Given the description of an element on the screen output the (x, y) to click on. 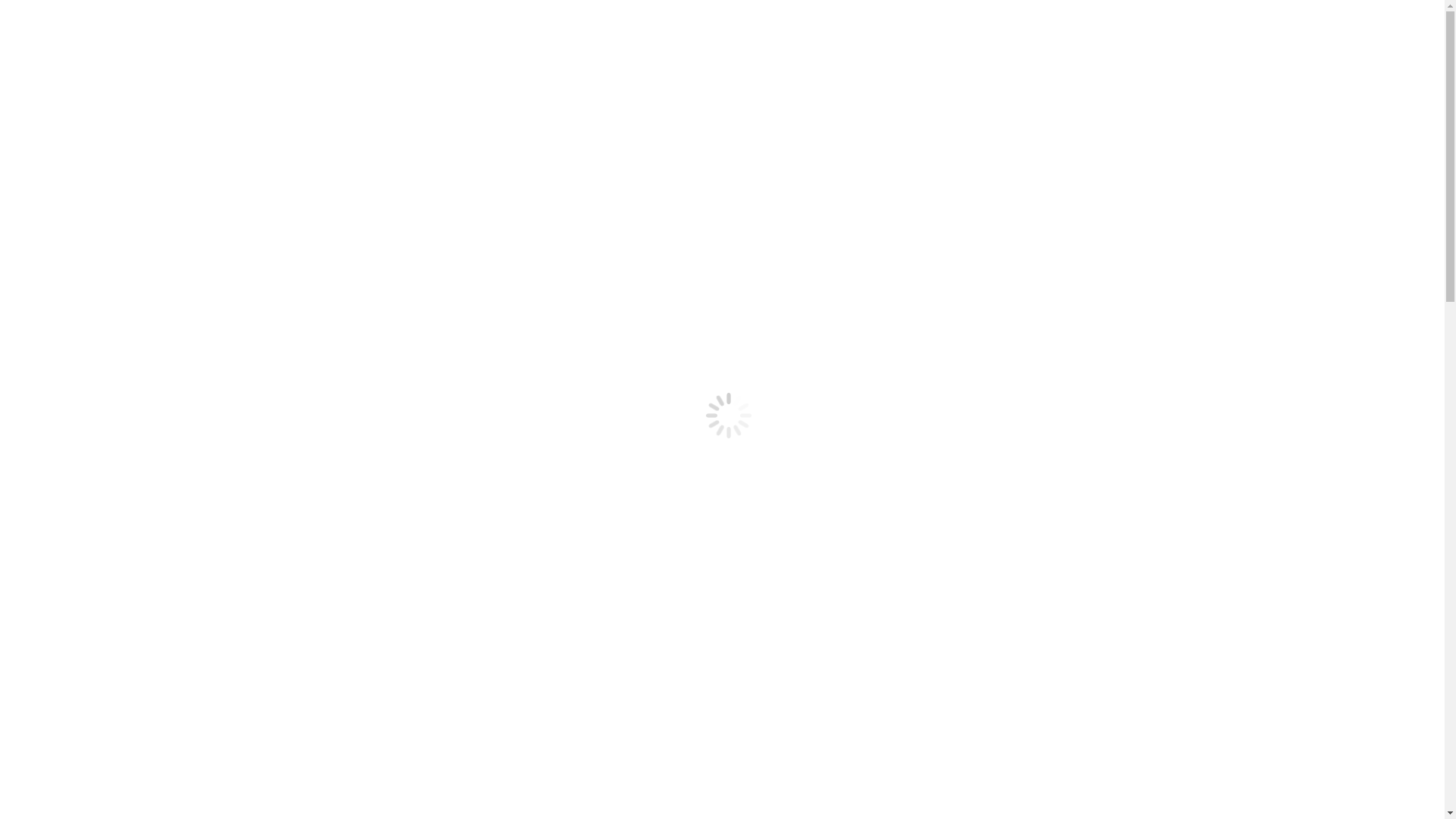
Arxiv Element type: text (80, 495)
Instagram page opens in new window Element type: text (24, 26)
Telegram page opens in new window Element type: text (36, 733)
Gold Shah Element type: text (92, 454)
Gold Shah Element type: text (92, 238)
Instagram page opens in new window Element type: text (24, 733)
Facebook page opens in new window Element type: text (12, 733)
Telegram page opens in new window Element type: text (36, 26)
Skip to content Element type: text (5, 5)
Konqres Element type: text (86, 468)
RENLEY Element type: text (482, 759)
Konqres Element type: text (86, 251)
Facebook page opens in new window Element type: text (12, 26)
Arxiv Element type: text (80, 279)
